Given the description of an element on the screen output the (x, y) to click on. 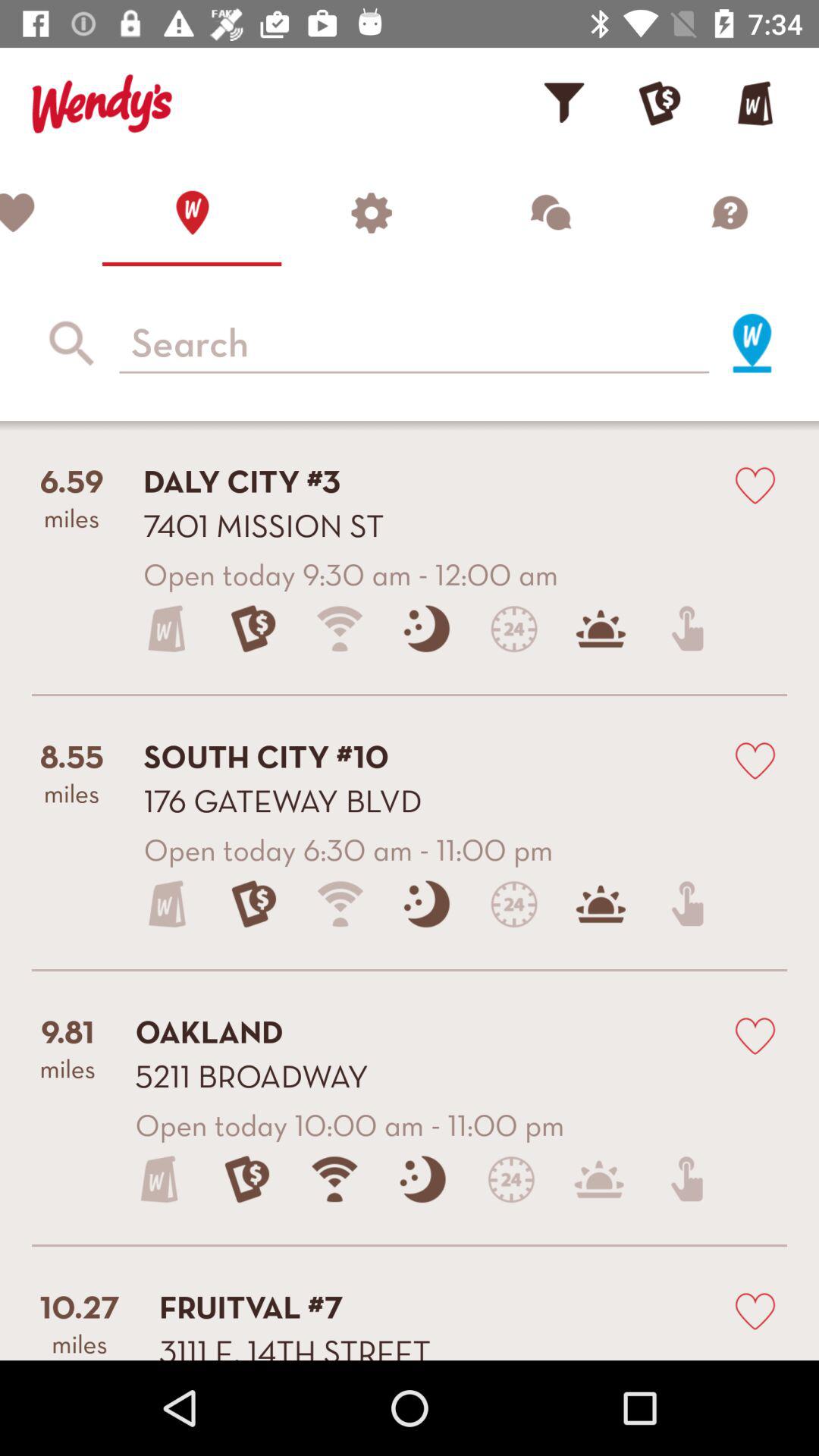
mark as favourite (755, 484)
